Given the description of an element on the screen output the (x, y) to click on. 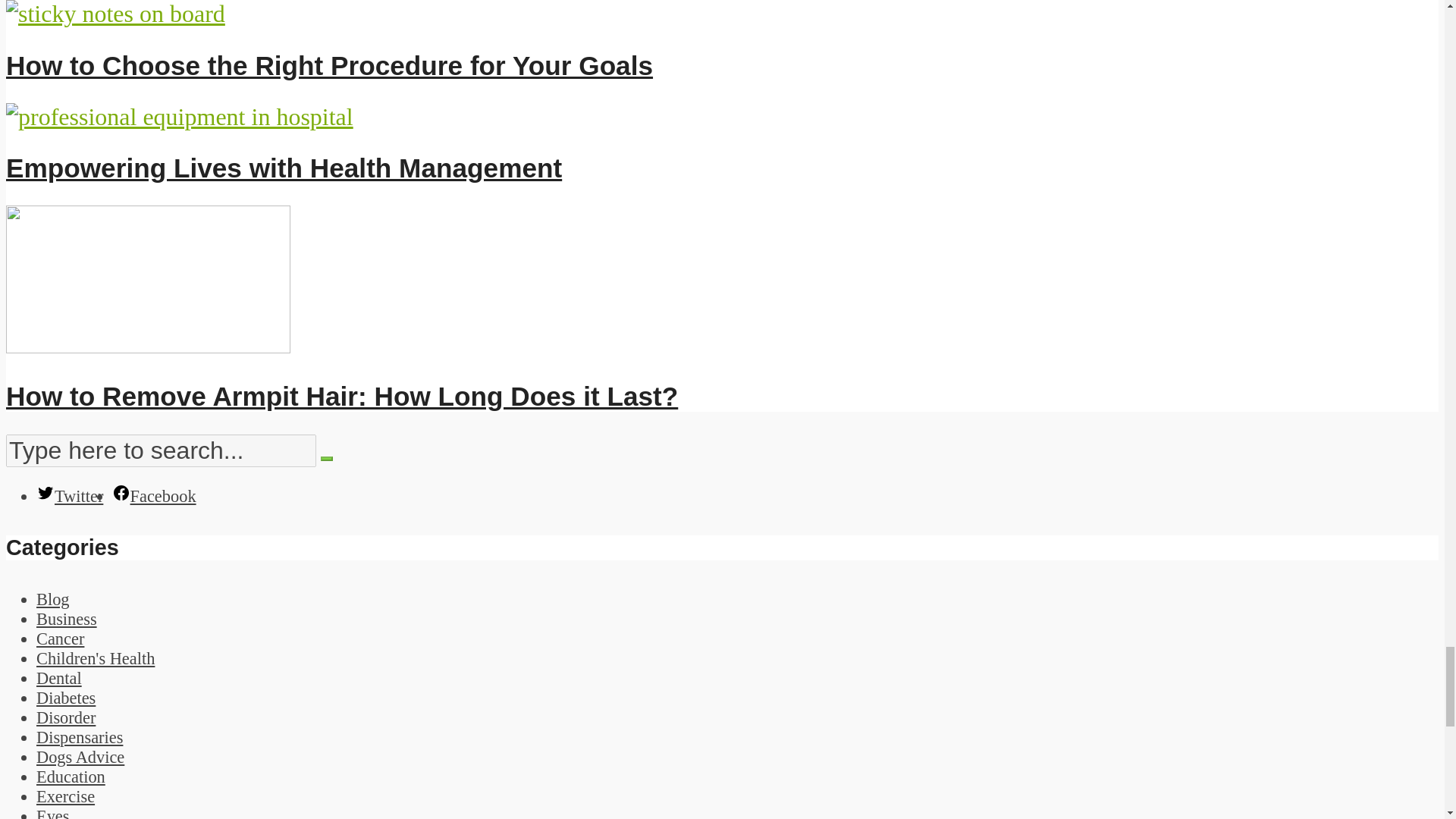
Type here to search... (160, 450)
Children's Health (95, 658)
How to Remove Armpit Hair: How Long Does it Last? (341, 396)
Cancer (60, 638)
Dental (58, 678)
Empowering Lives with Health Management (283, 167)
Empowering Lives with Health Management (283, 167)
How to Choose the Right Procedure for Your Goals (328, 65)
Type here to search... (160, 450)
How to Choose the Right Procedure for Your Goals (115, 13)
